Given the description of an element on the screen output the (x, y) to click on. 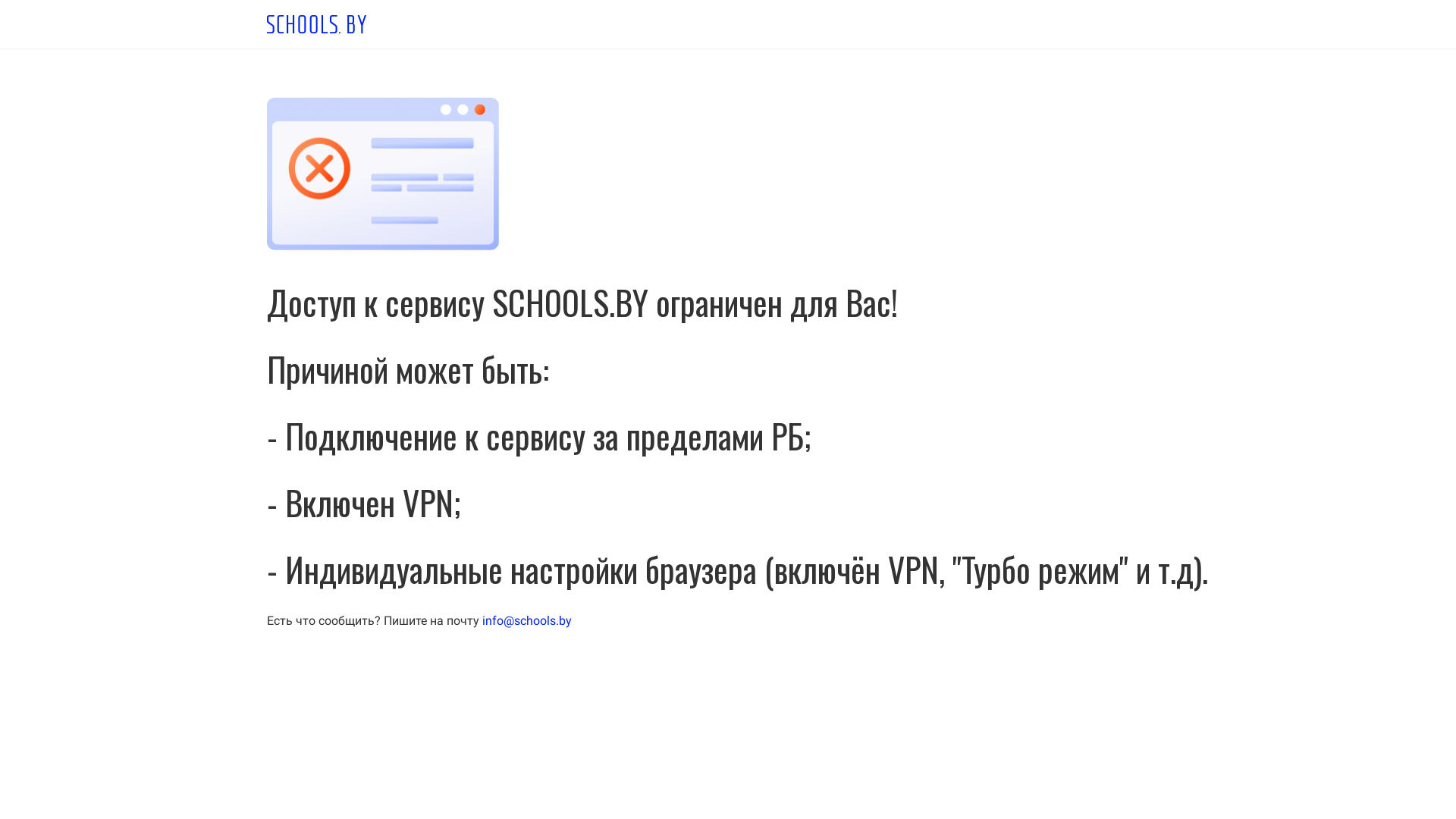
info@schools.by Element type: text (526, 620)
